Given the description of an element on the screen output the (x, y) to click on. 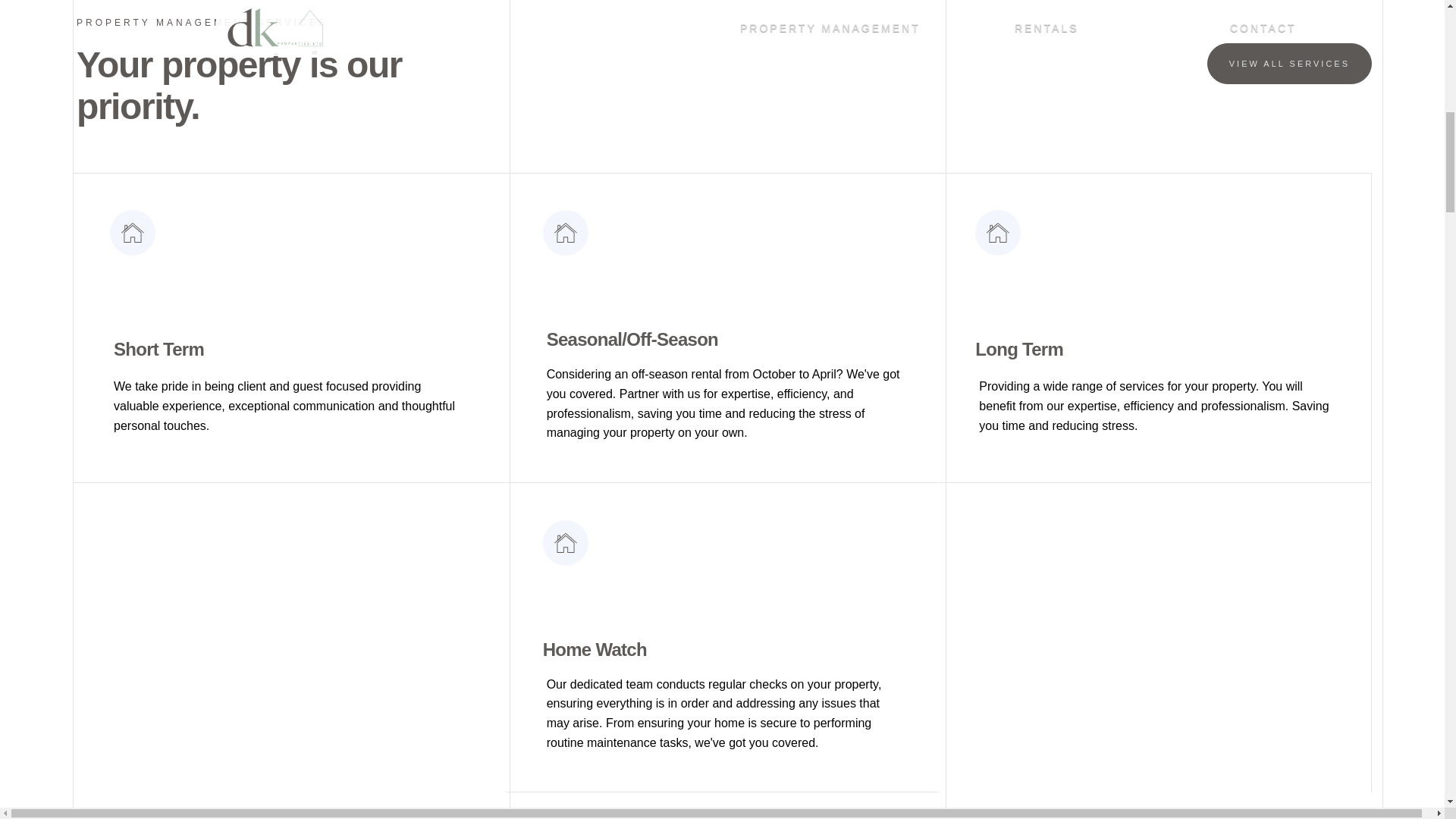
VIEW ALL SERVICES (1289, 63)
